Given the description of an element on the screen output the (x, y) to click on. 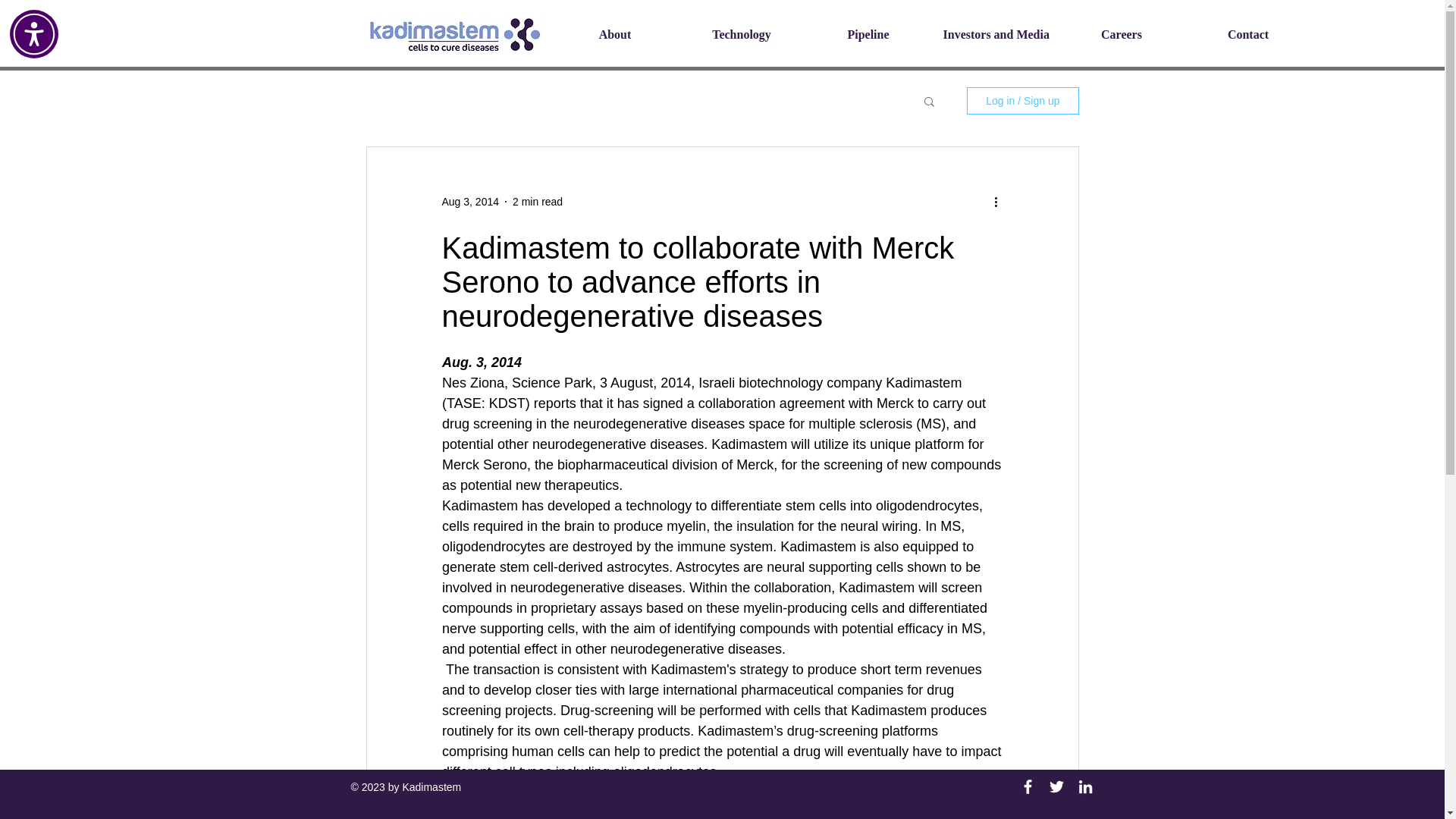
Accessibility Menu (34, 33)
Pipeline (868, 34)
Aug 3, 2014 (470, 201)
Careers (1121, 34)
Contact (1248, 34)
Technology (741, 34)
2 min read (537, 201)
About (614, 34)
Investors and Media (994, 34)
